Given the description of an element on the screen output the (x, y) to click on. 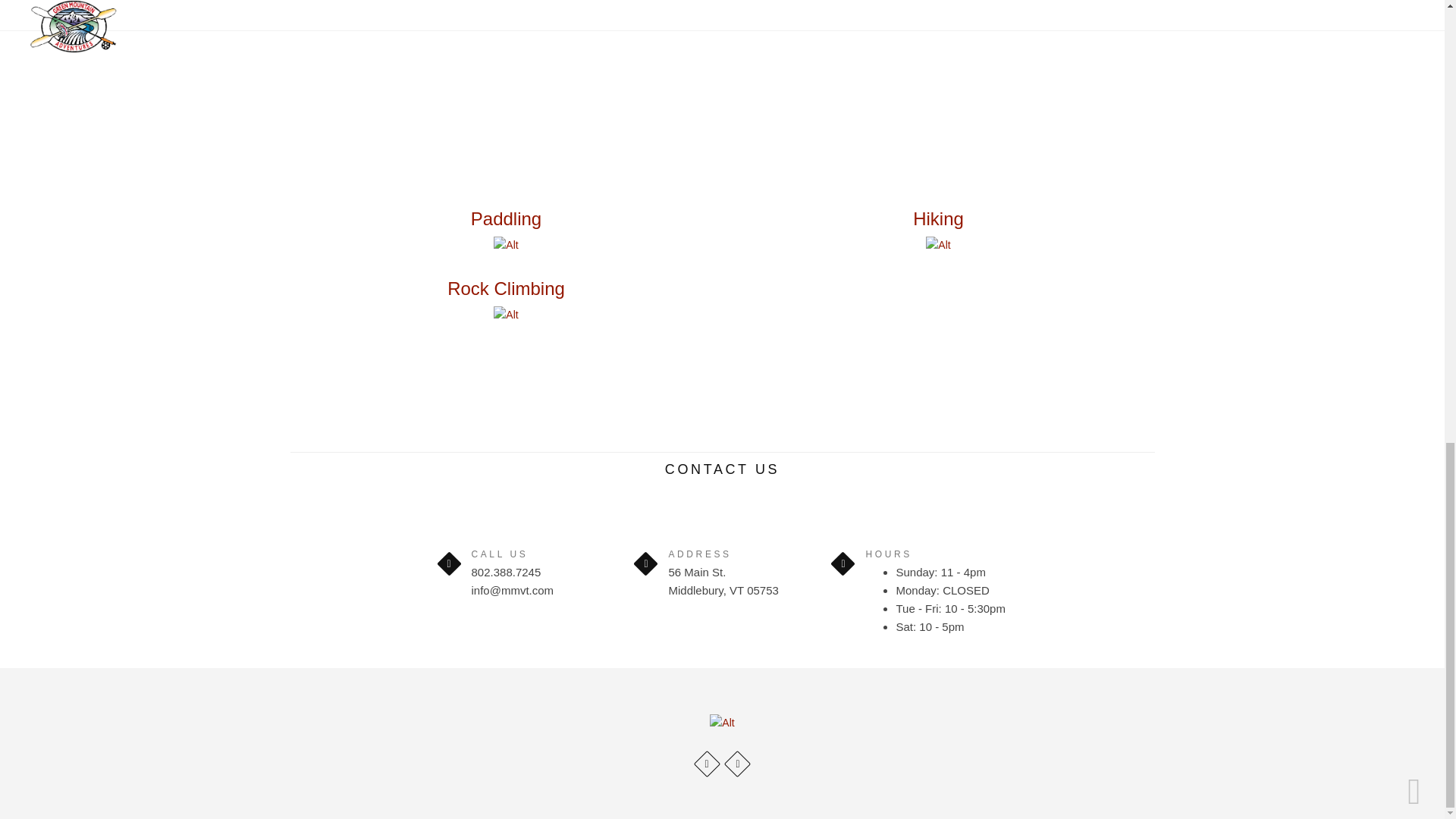
Paddling (505, 218)
Hiking (937, 218)
Rock Climbing (505, 288)
